Given the description of an element on the screen output the (x, y) to click on. 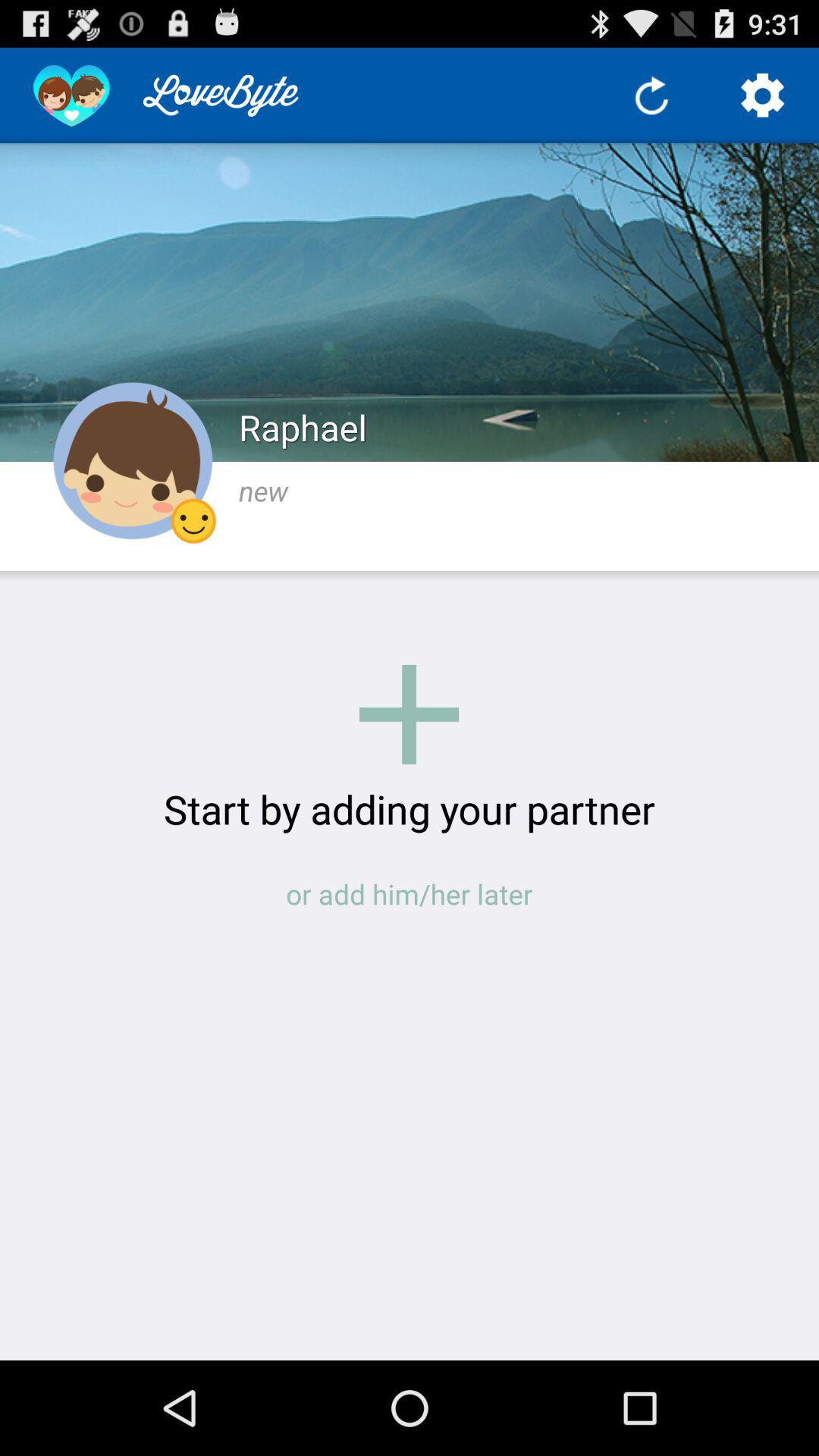
avatar image (132, 460)
